Given the description of an element on the screen output the (x, y) to click on. 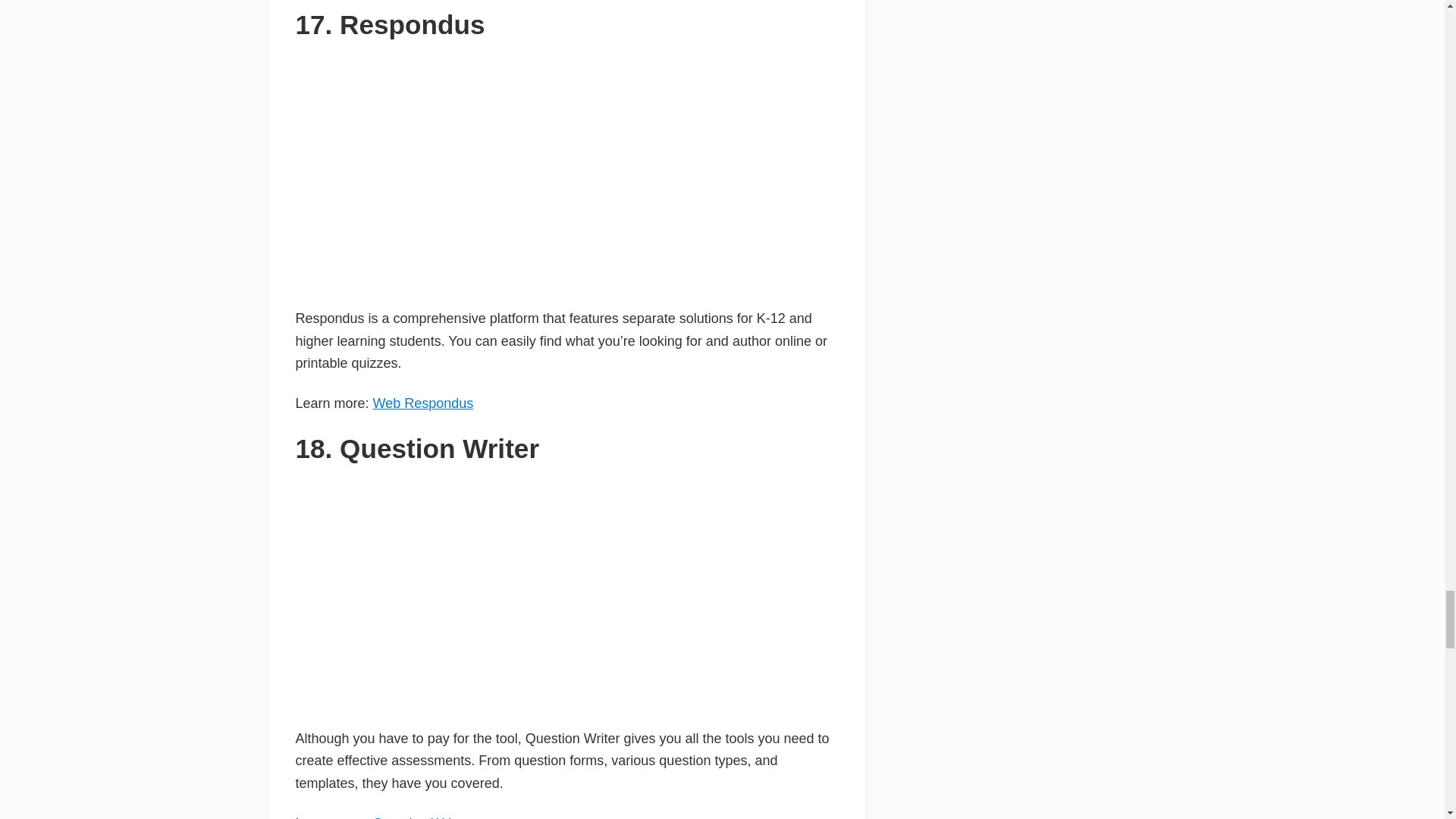
respondus (566, 170)
Web Respondus (423, 403)
